Given the description of an element on the screen output the (x, y) to click on. 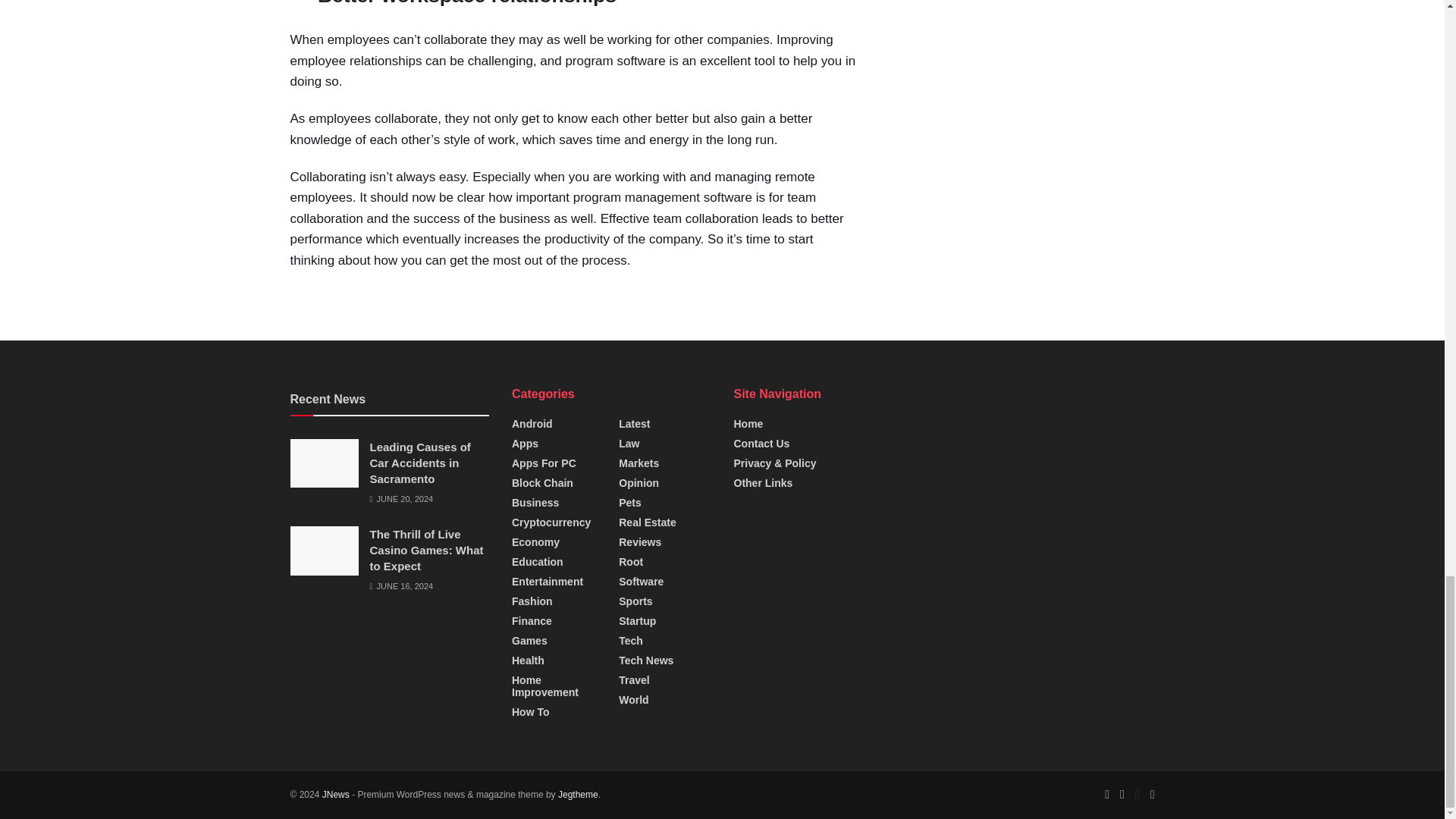
Jegtheme (577, 794)
